Given the description of an element on the screen output the (x, y) to click on. 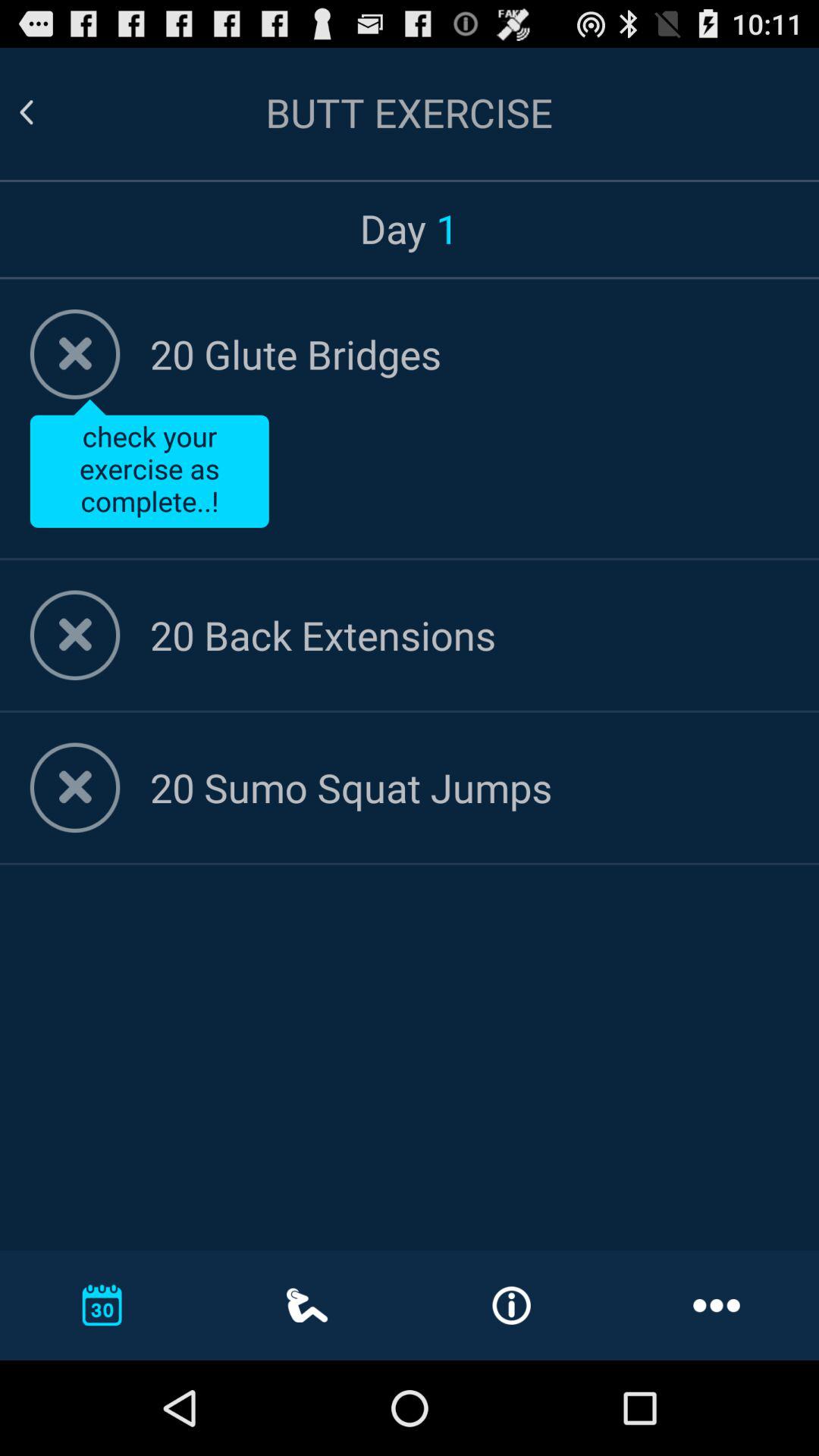
remove from the list (75, 787)
